Given the description of an element on the screen output the (x, y) to click on. 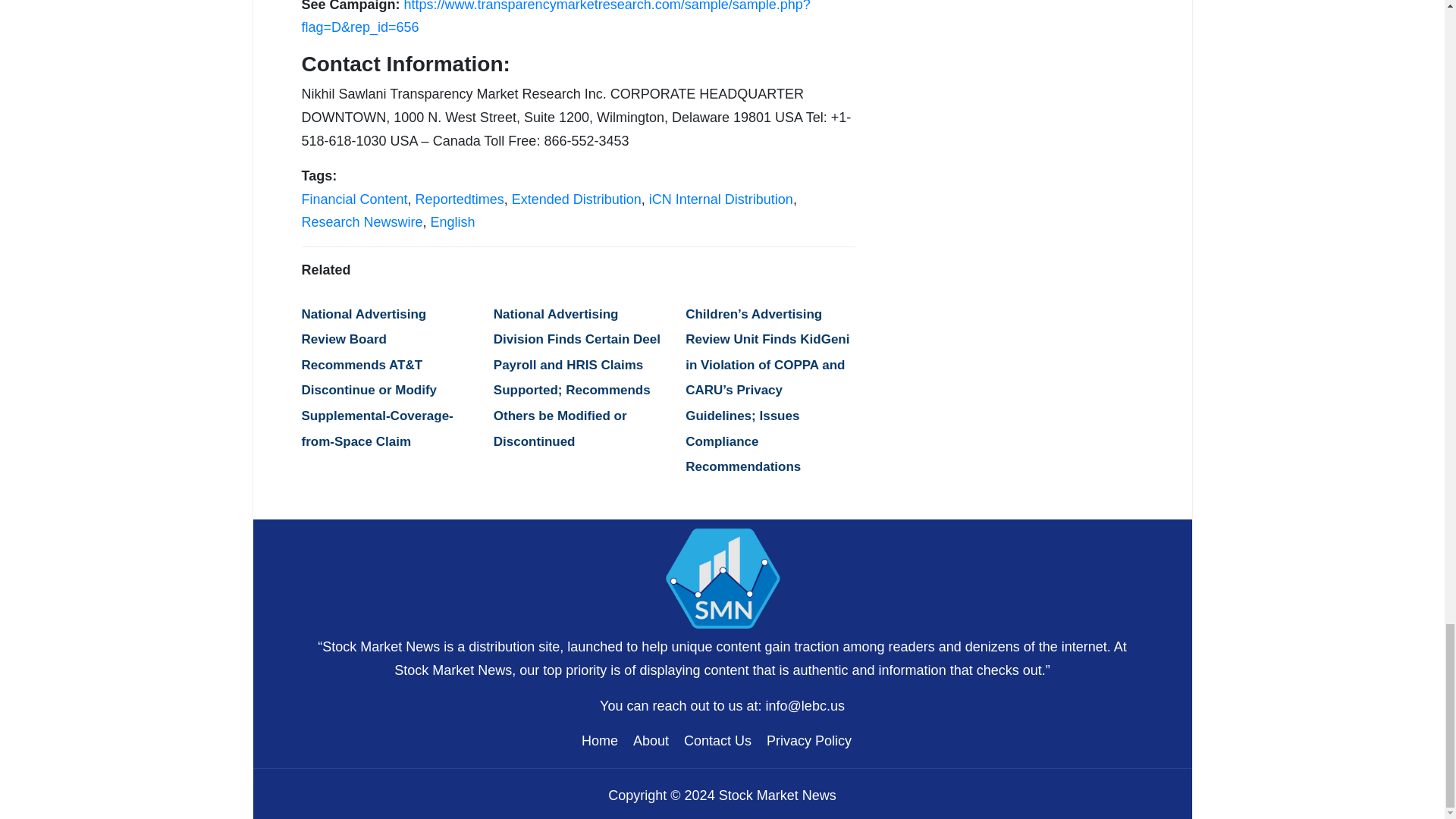
Research Newswire (362, 222)
site title (722, 575)
English (453, 222)
Reportedtimes (458, 199)
iCN Internal Distribution (721, 199)
Financial Content (354, 199)
Extended Distribution (577, 199)
